Given the description of an element on the screen output the (x, y) to click on. 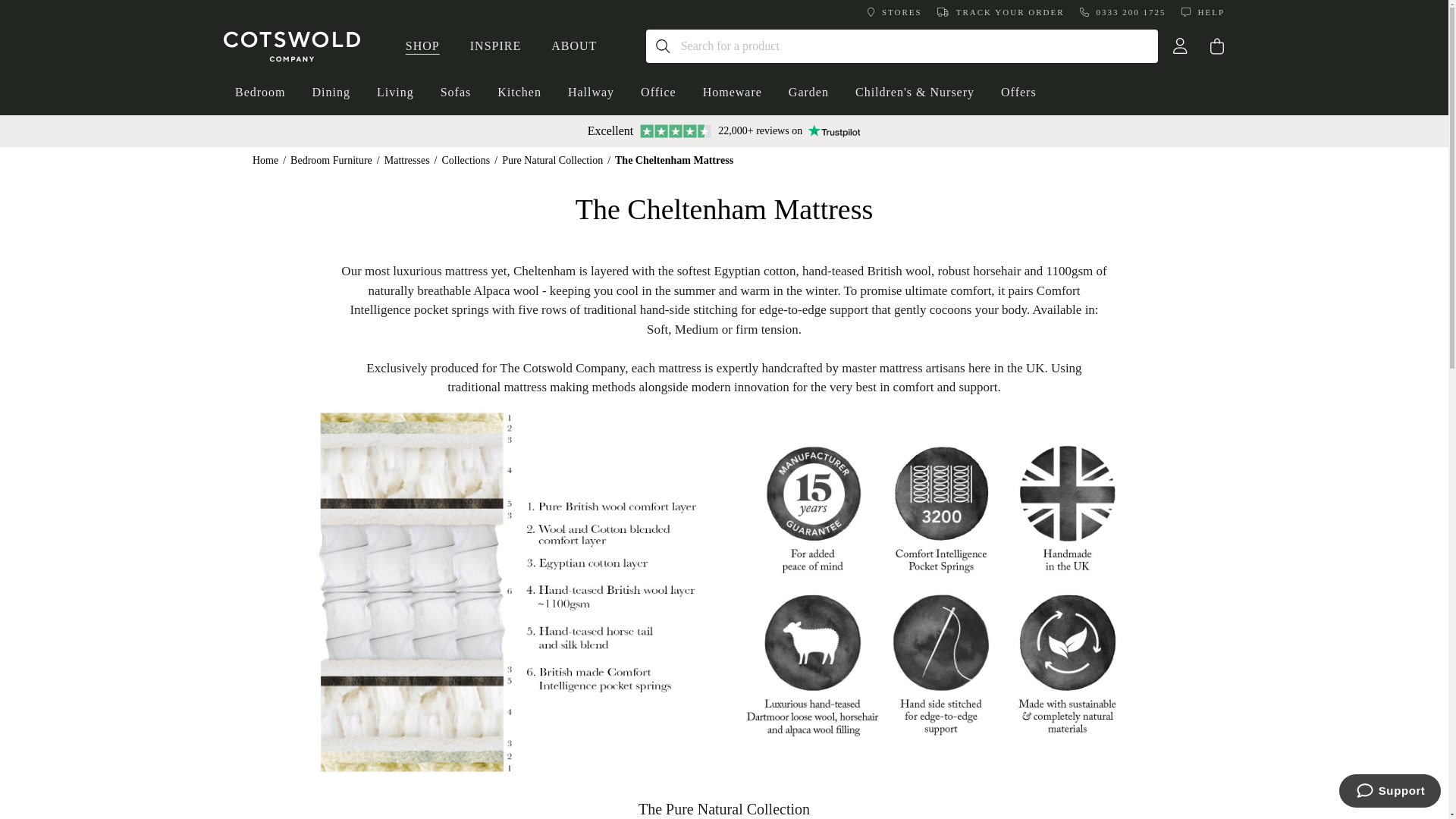
STORES (894, 12)
HELP (1202, 12)
Dining (331, 92)
TRACK YOUR ORDER (1000, 12)
0333 200 1725 (1123, 12)
Bedroom (260, 92)
